Given the description of an element on the screen output the (x, y) to click on. 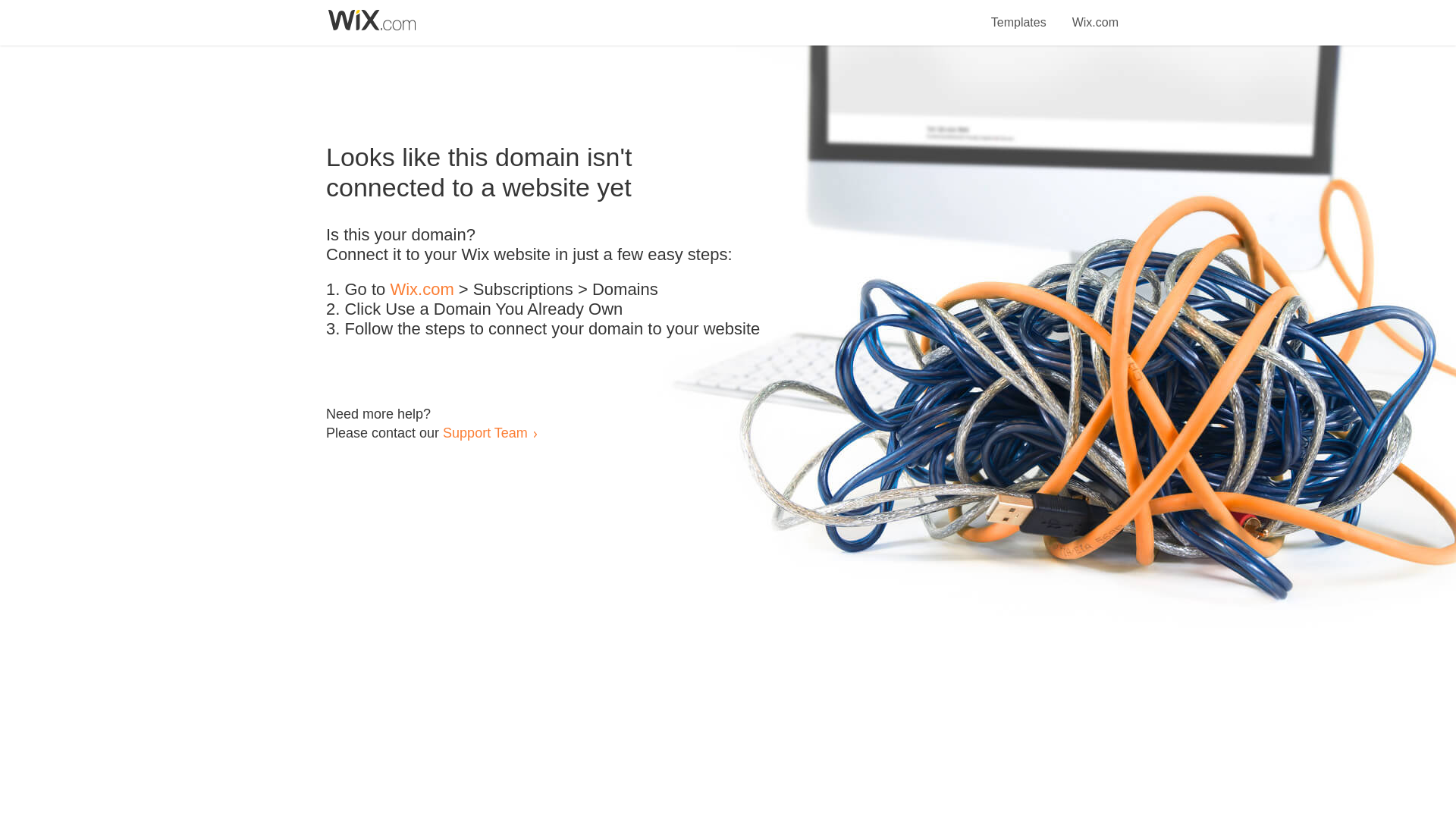
Wix.com (1095, 14)
Wix.com (421, 289)
Support Team (484, 432)
Templates (1018, 14)
